Given the description of an element on the screen output the (x, y) to click on. 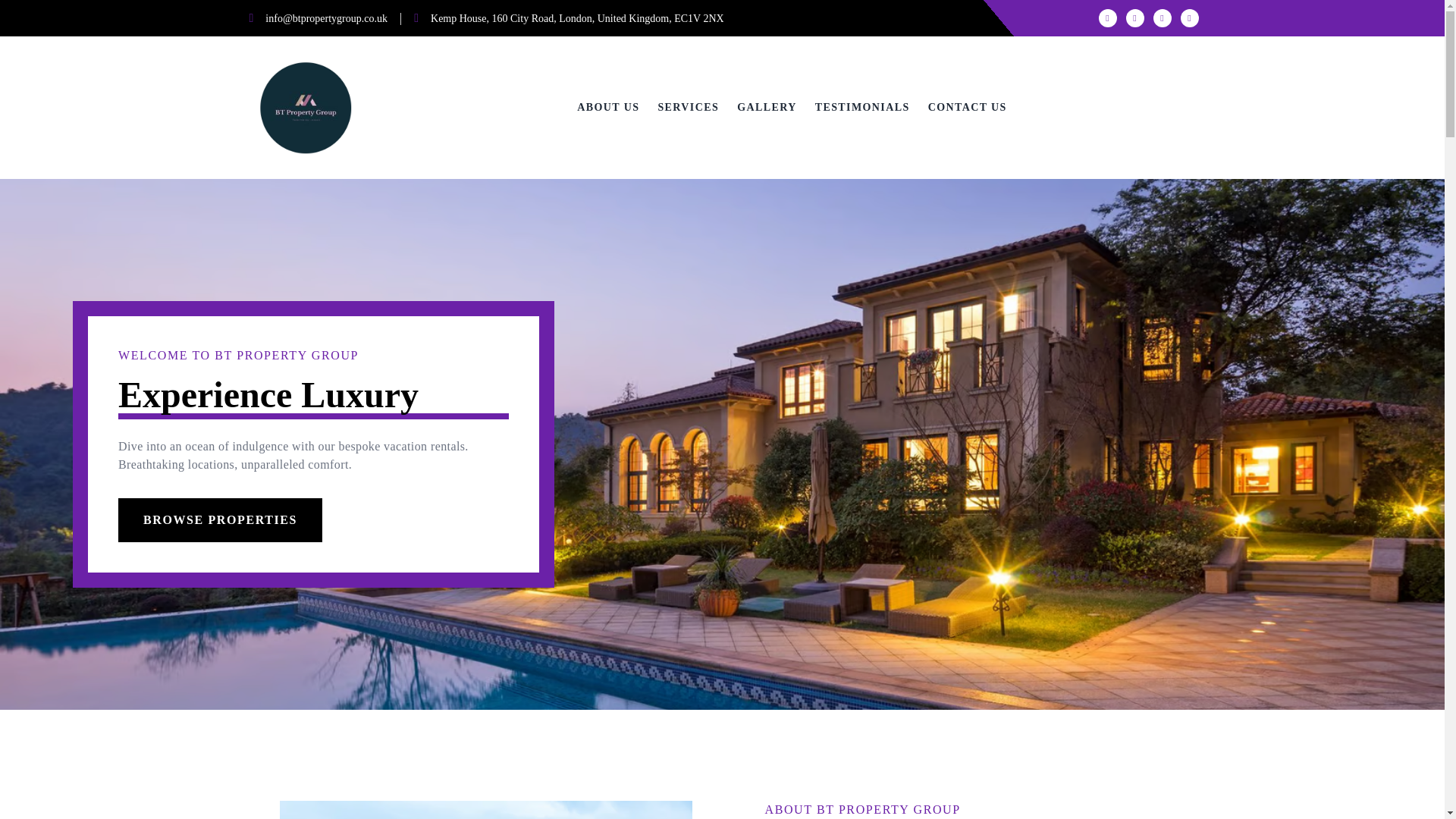
SERVICES (688, 107)
CONTACT US (967, 107)
TESTIMONIALS (862, 107)
BROWSE PROPERTIES (219, 519)
ABOUT US (607, 107)
GALLERY (766, 107)
